Given the description of an element on the screen output the (x, y) to click on. 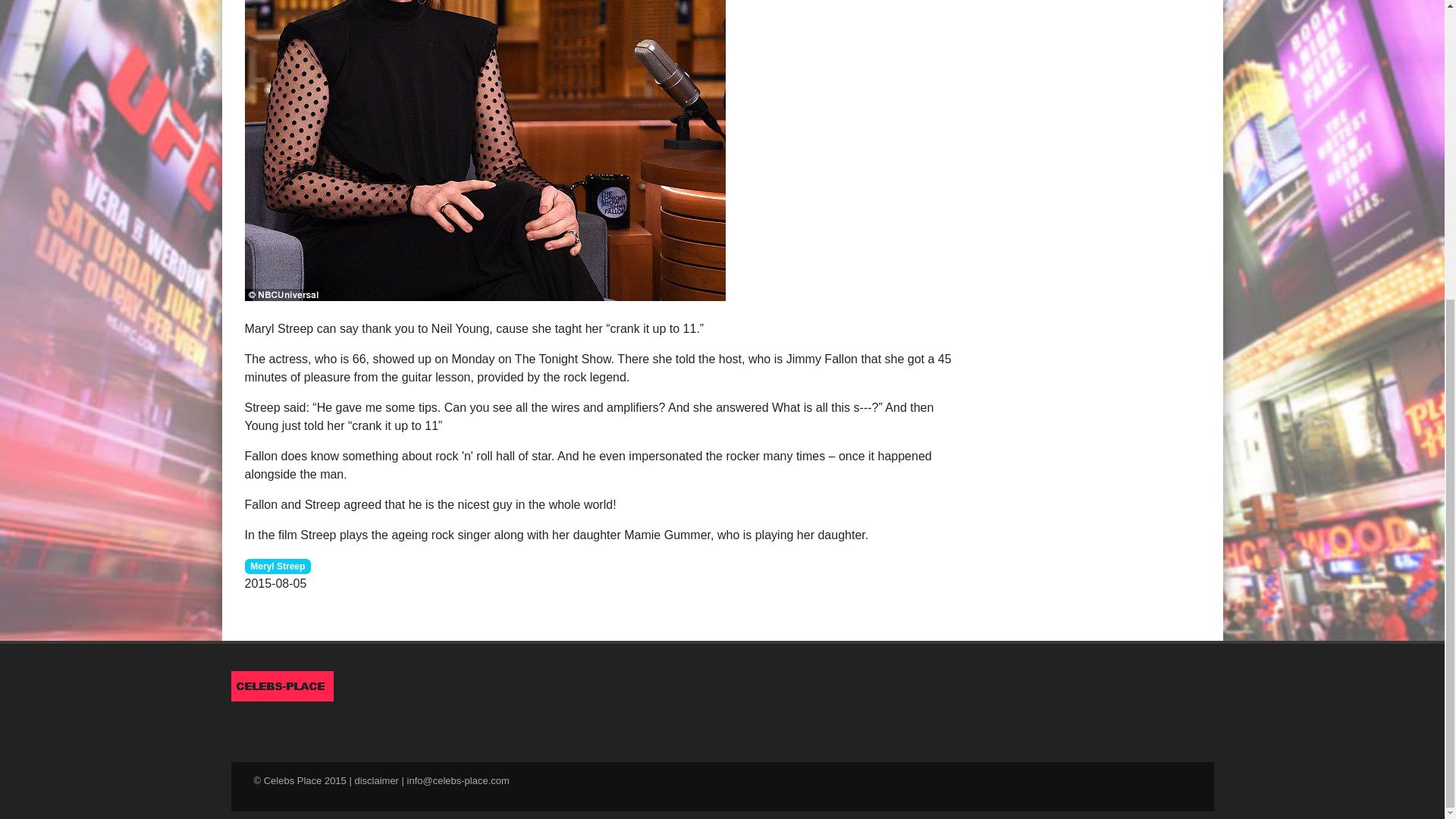
disclaimer (375, 780)
Meryl Streep (277, 564)
